Given the description of an element on the screen output the (x, y) to click on. 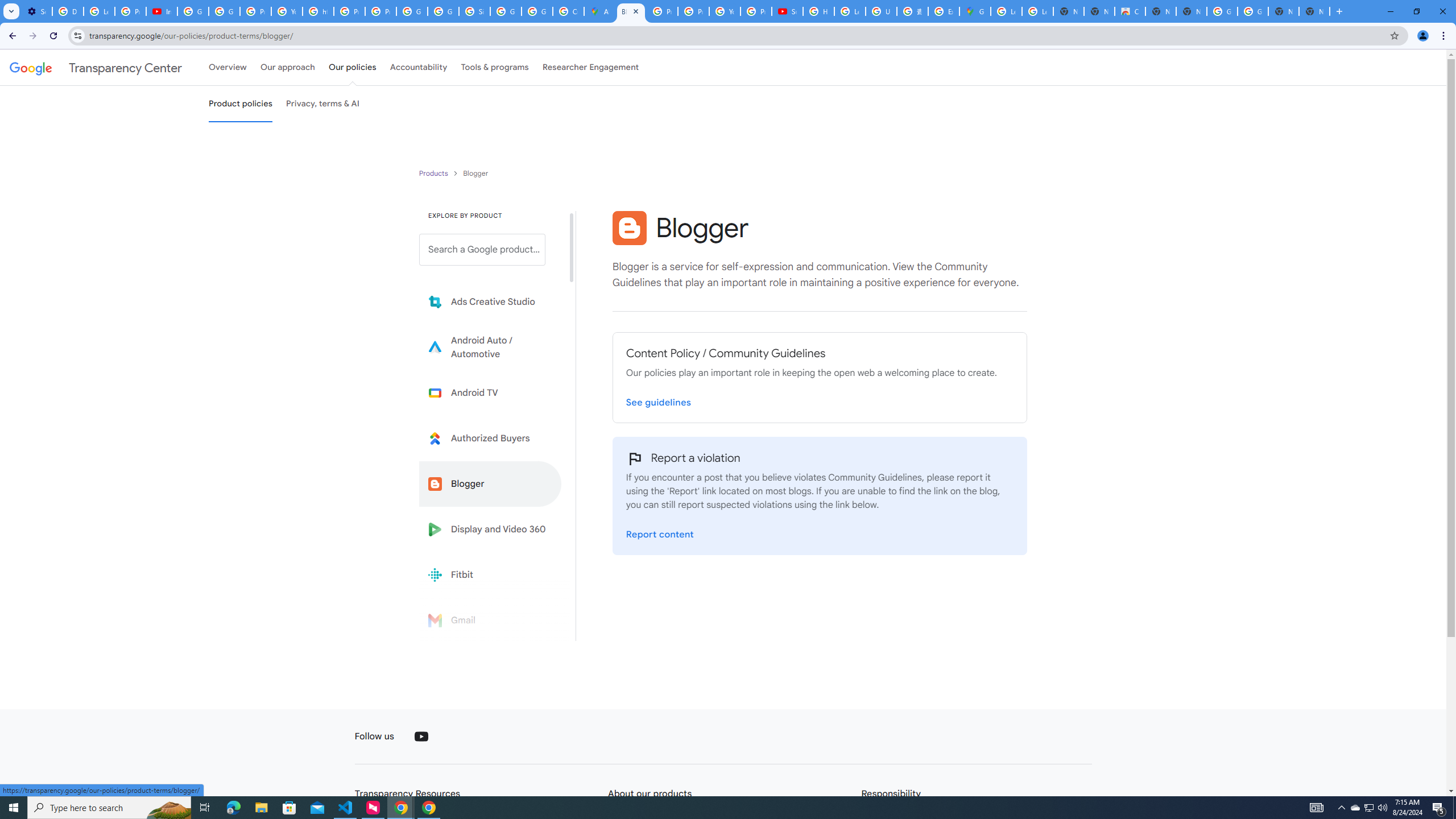
Our policies (351, 67)
Gmail (490, 619)
YouTube (286, 11)
Gmail (490, 619)
Blogger (628, 227)
Subscriptions - YouTube (787, 11)
Blogger Policies and Guidelines - Transparency Center (631, 11)
Settings - Performance (36, 11)
